Given the description of an element on the screen output the (x, y) to click on. 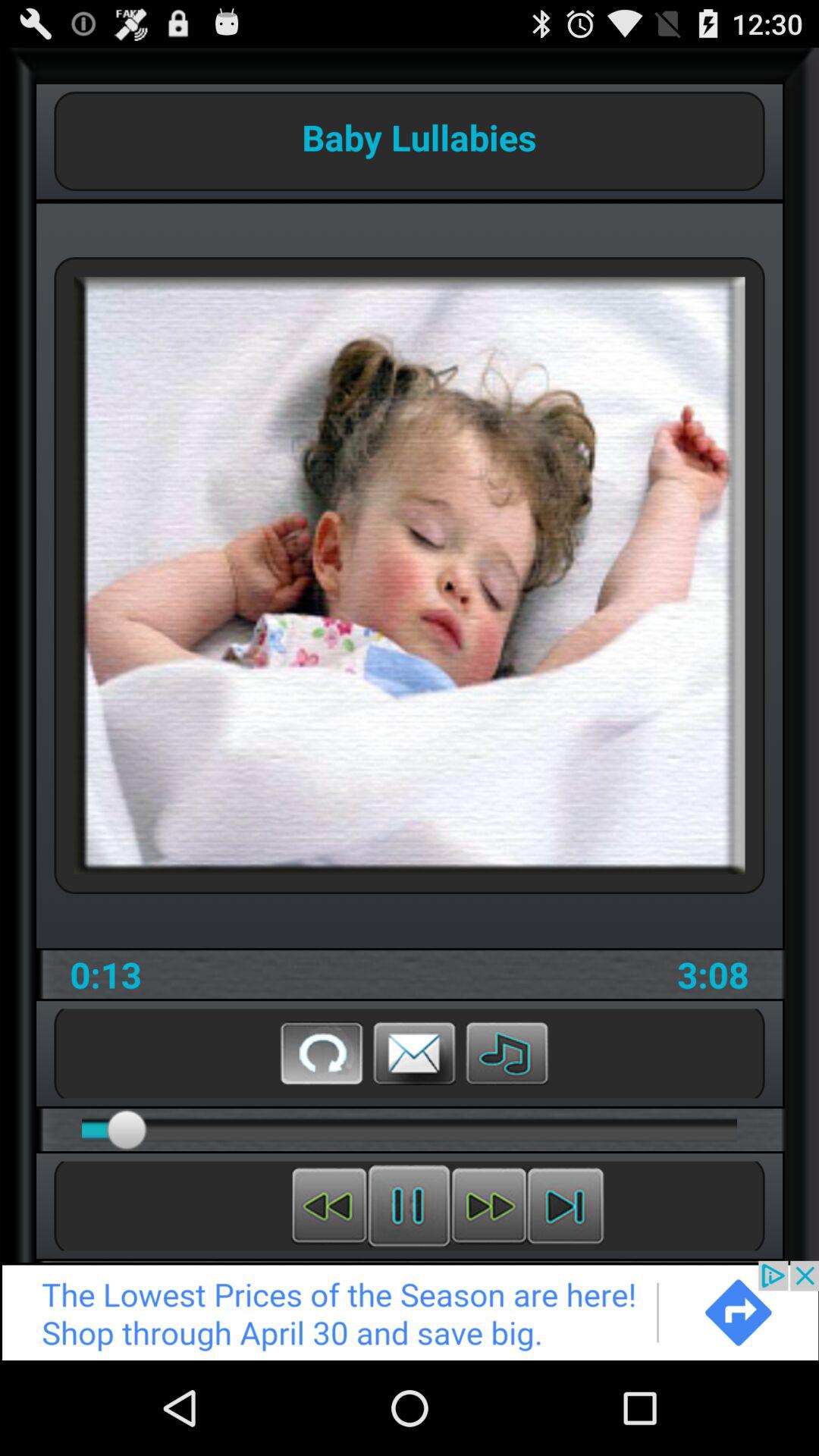
go to previous option (329, 1205)
